Given the description of an element on the screen output the (x, y) to click on. 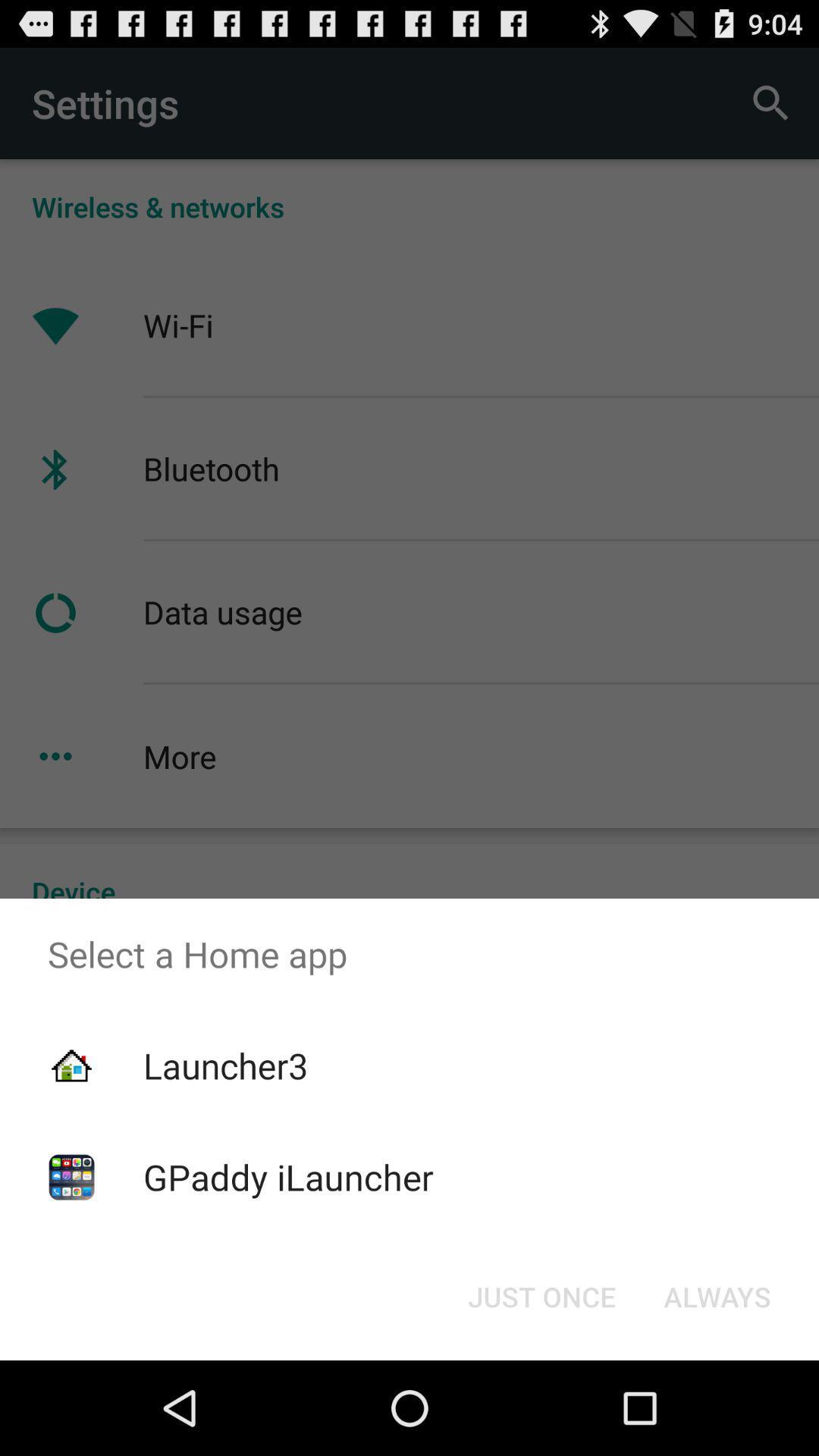
scroll until the just once (541, 1296)
